Given the description of an element on the screen output the (x, y) to click on. 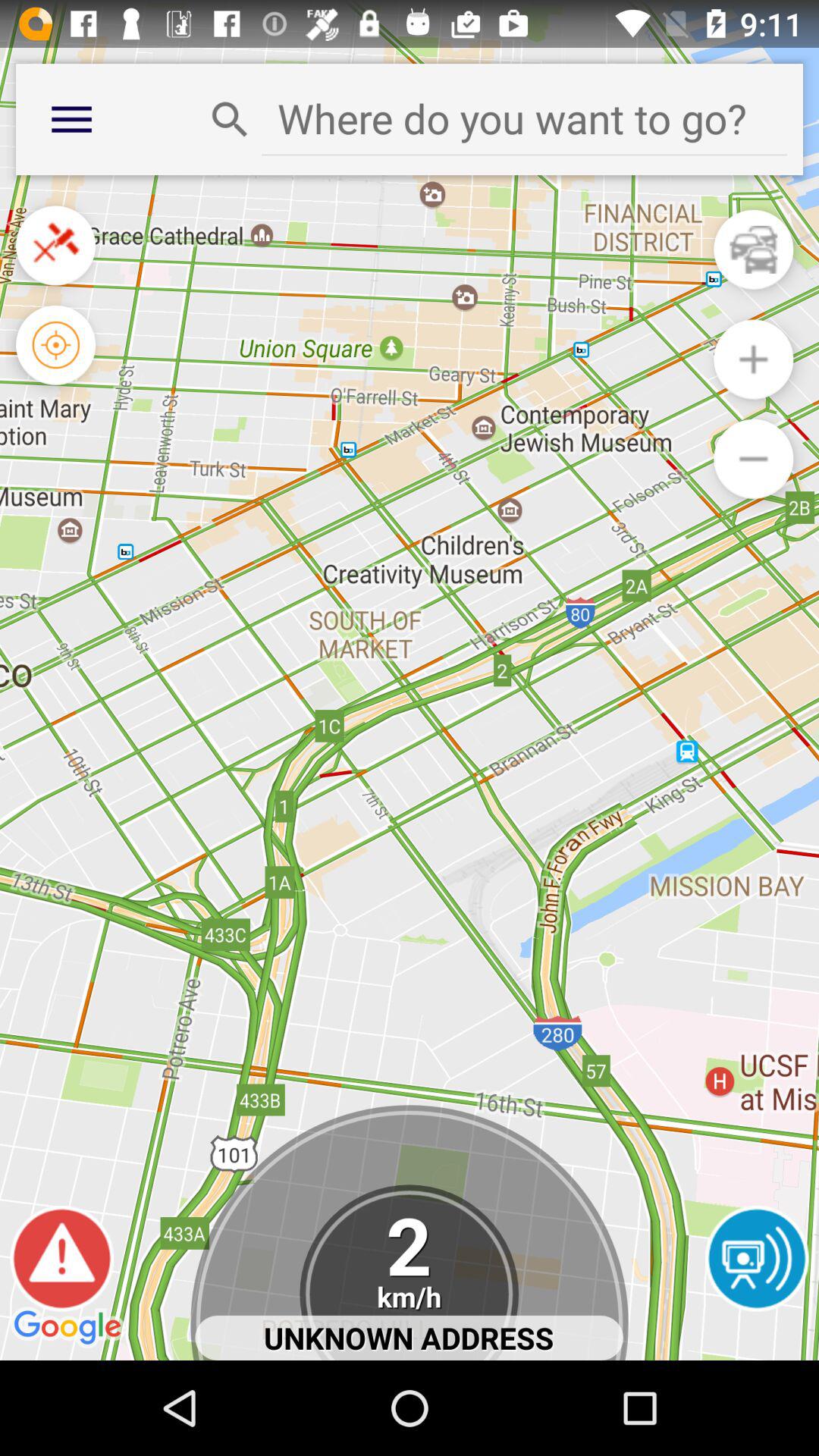
zoom in (753, 359)
